Given the description of an element on the screen output the (x, y) to click on. 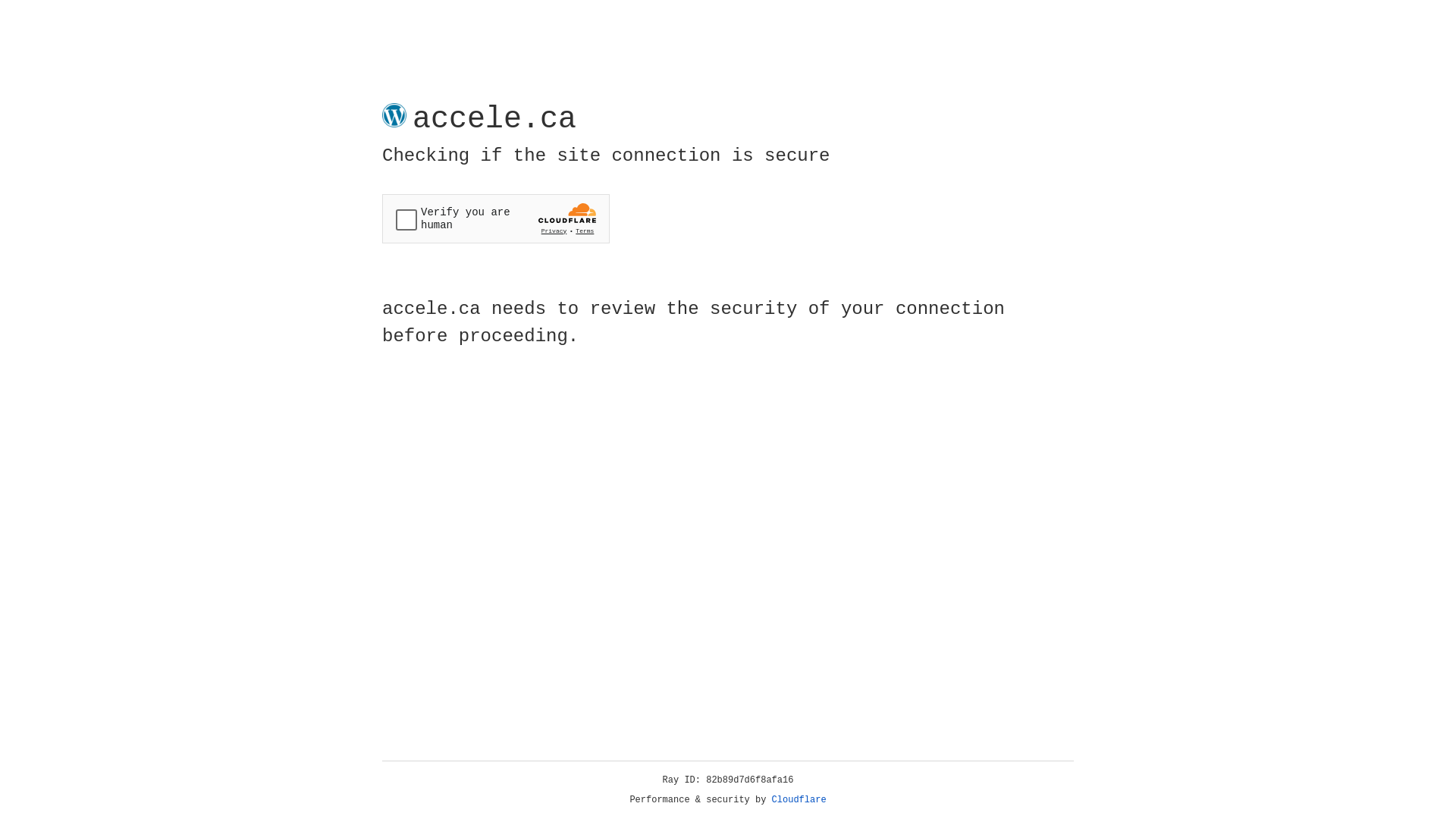
Widget containing a Cloudflare security challenge Element type: hover (495, 218)
Cloudflare Element type: text (798, 799)
